Given the description of an element on the screen output the (x, y) to click on. 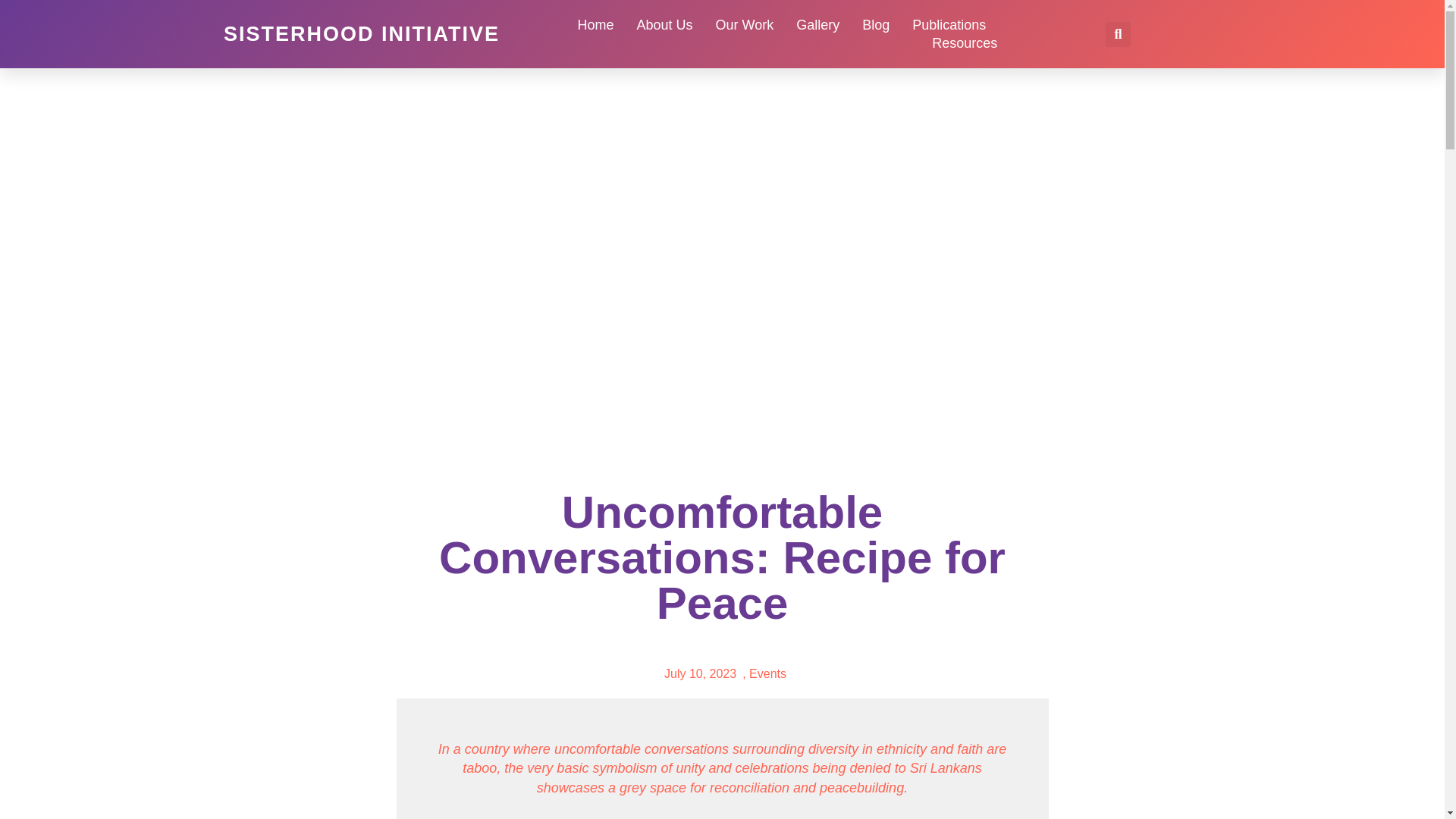
Gallery (818, 24)
July 10, 2023 (697, 673)
Events (767, 673)
Resources (964, 43)
SISTERHOOD INITIATIVE (361, 33)
Blog (875, 24)
Our Work (743, 24)
Publications (948, 24)
Home (594, 24)
About Us (664, 24)
